Given the description of an element on the screen output the (x, y) to click on. 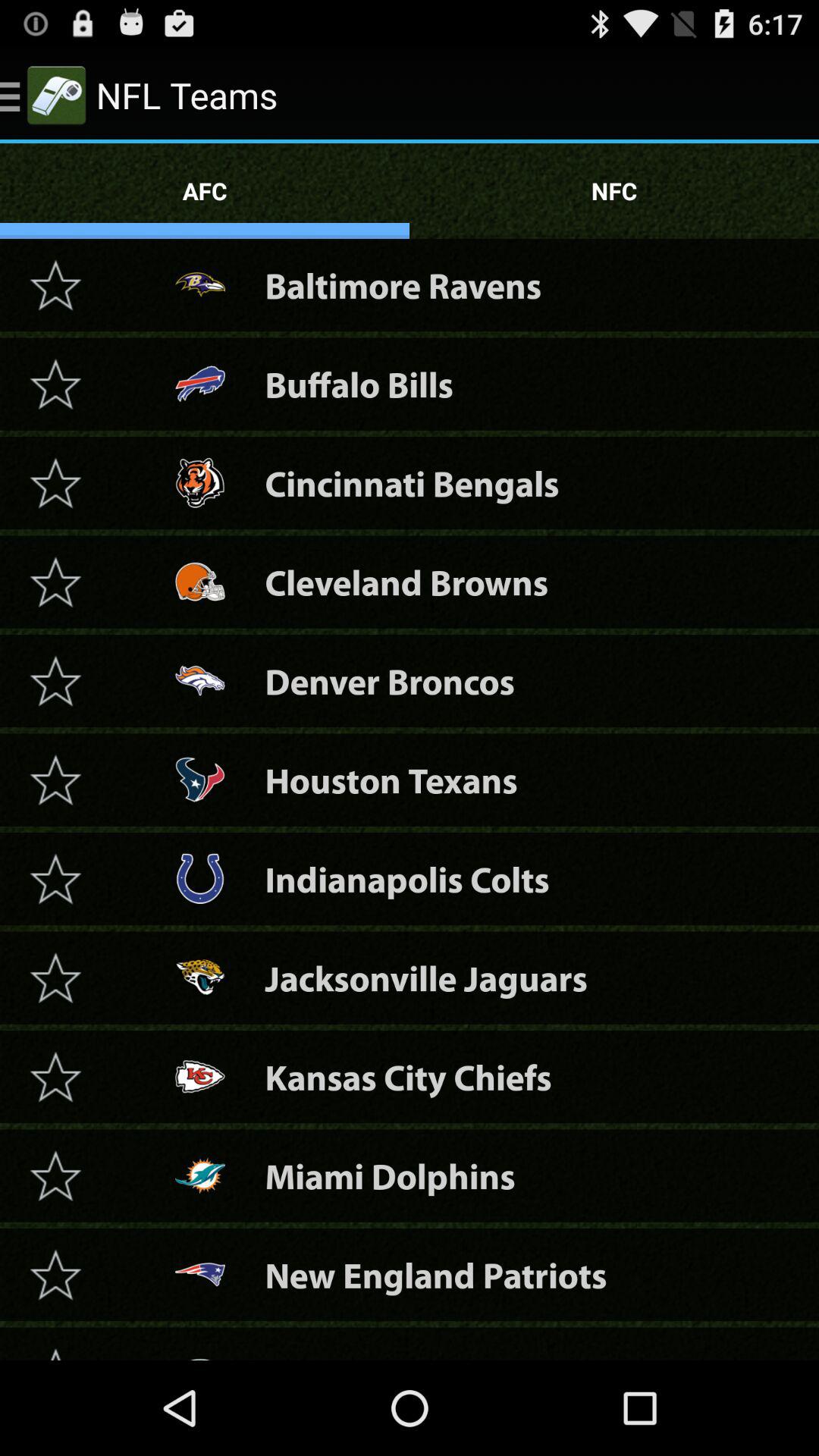
mark as favorite (55, 779)
